Given the description of an element on the screen output the (x, y) to click on. 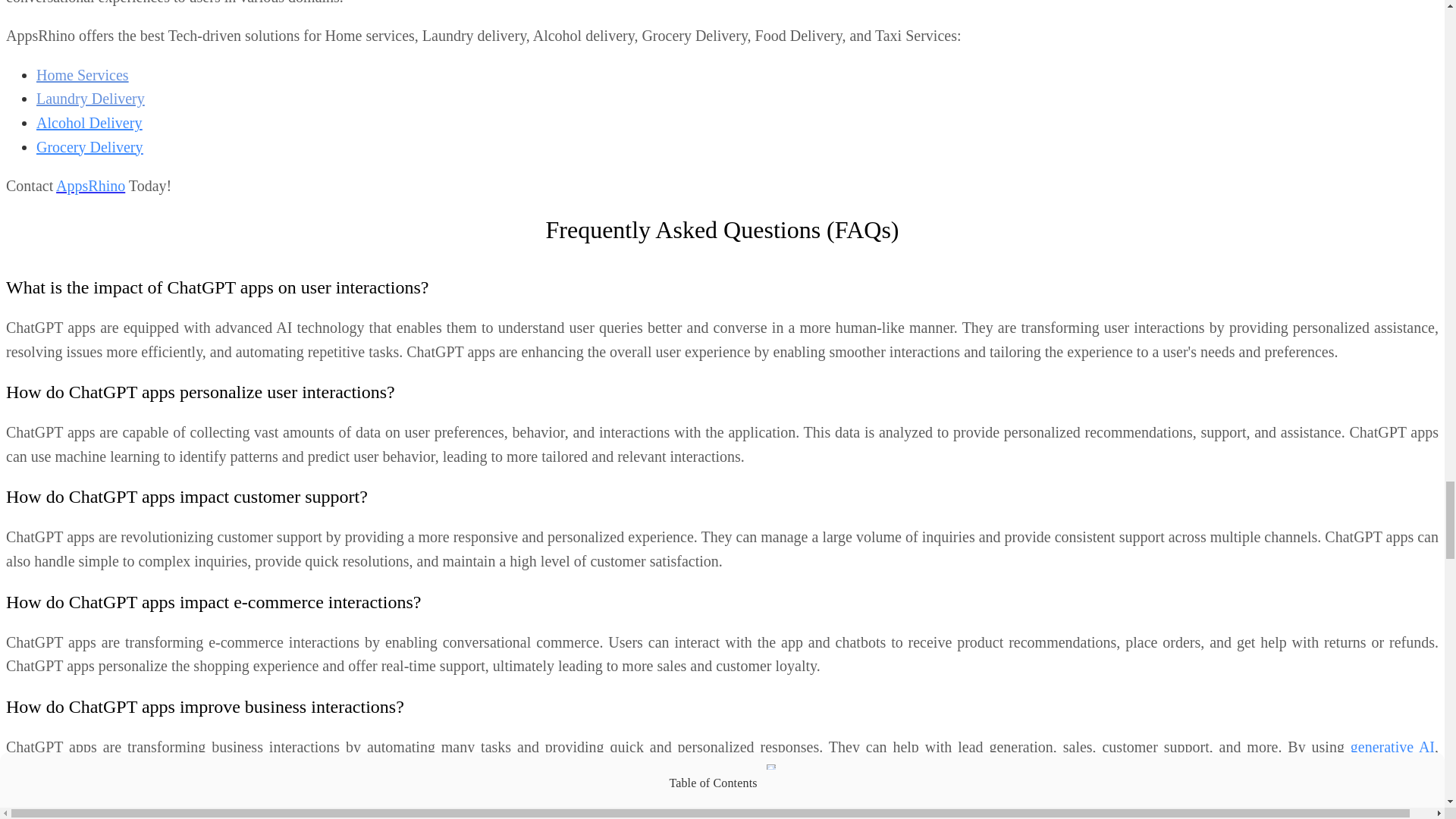
Alcohol Delivery (88, 122)
AppsRhino (90, 185)
generative AI (1392, 746)
Grocery Delivery (89, 146)
